Given the description of an element on the screen output the (x, y) to click on. 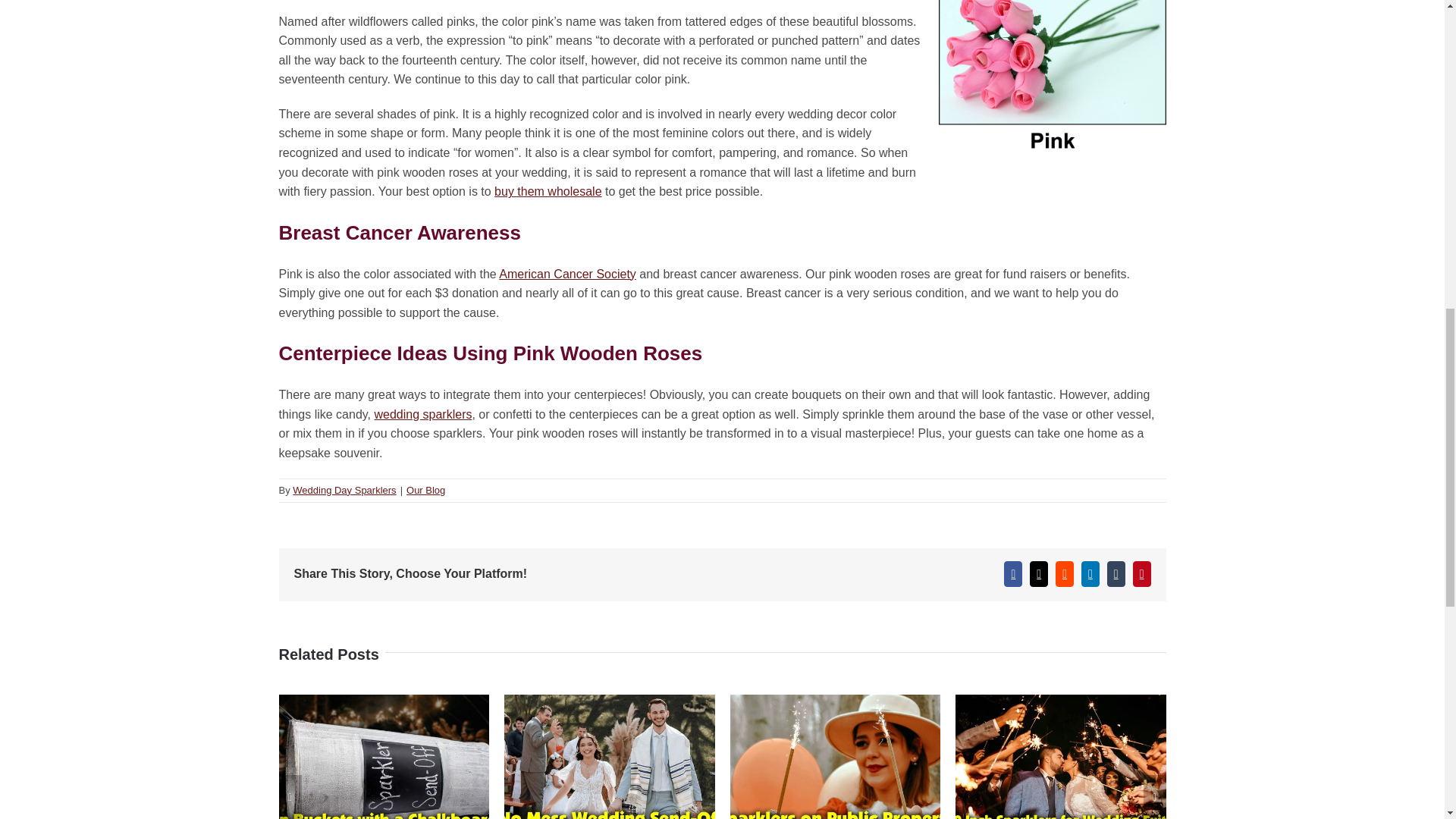
wedding sparklers (422, 413)
Posts by Wedding Day Sparklers (344, 489)
American Cancer Society (567, 273)
buy them wholesale (548, 191)
Wedding Day Sparklers (344, 489)
Pink Wooden Roses (1052, 84)
Our Blog (425, 489)
